Given the description of an element on the screen output the (x, y) to click on. 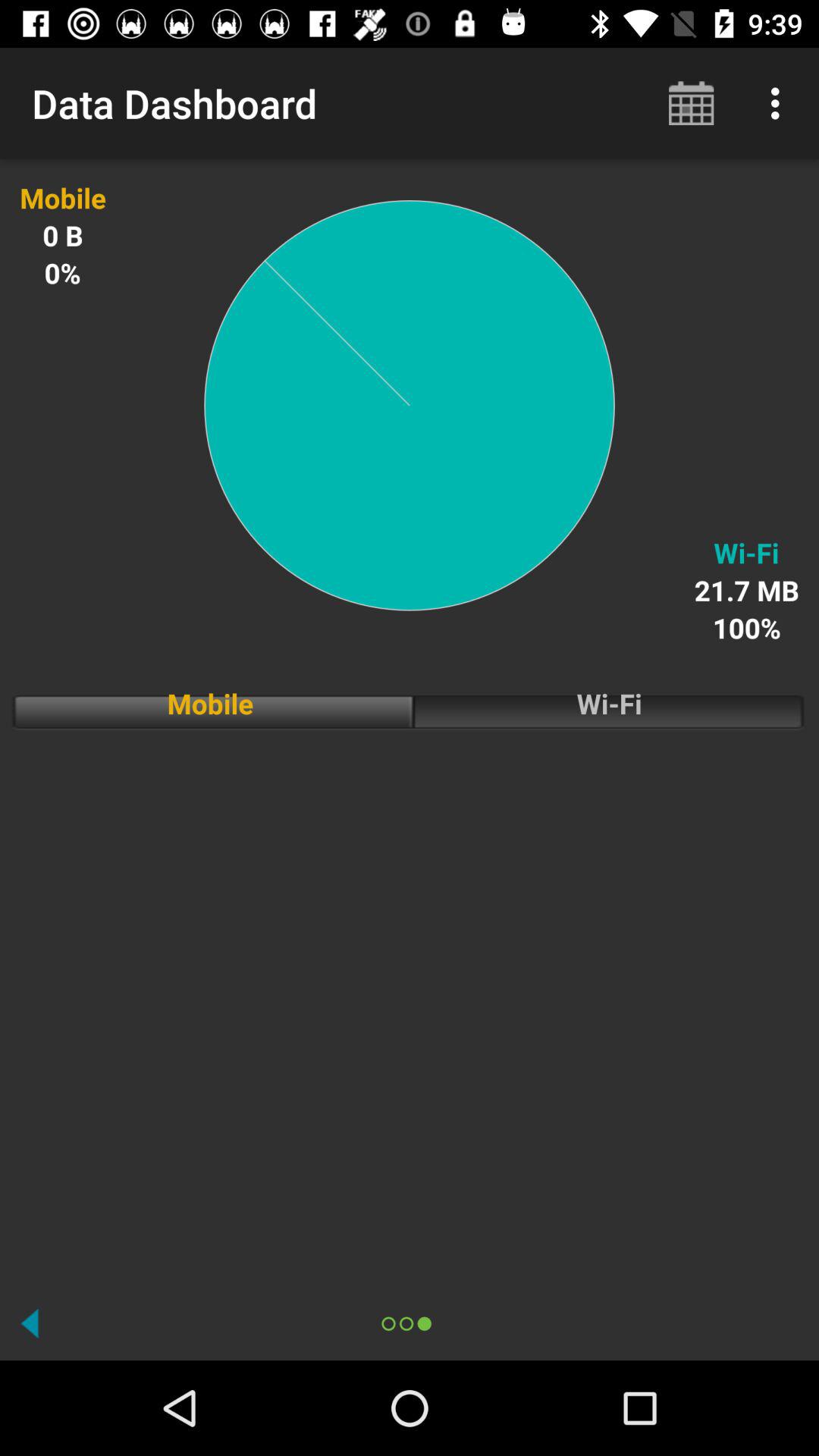
turn on the item below mobile (409, 1004)
